Given the description of an element on the screen output the (x, y) to click on. 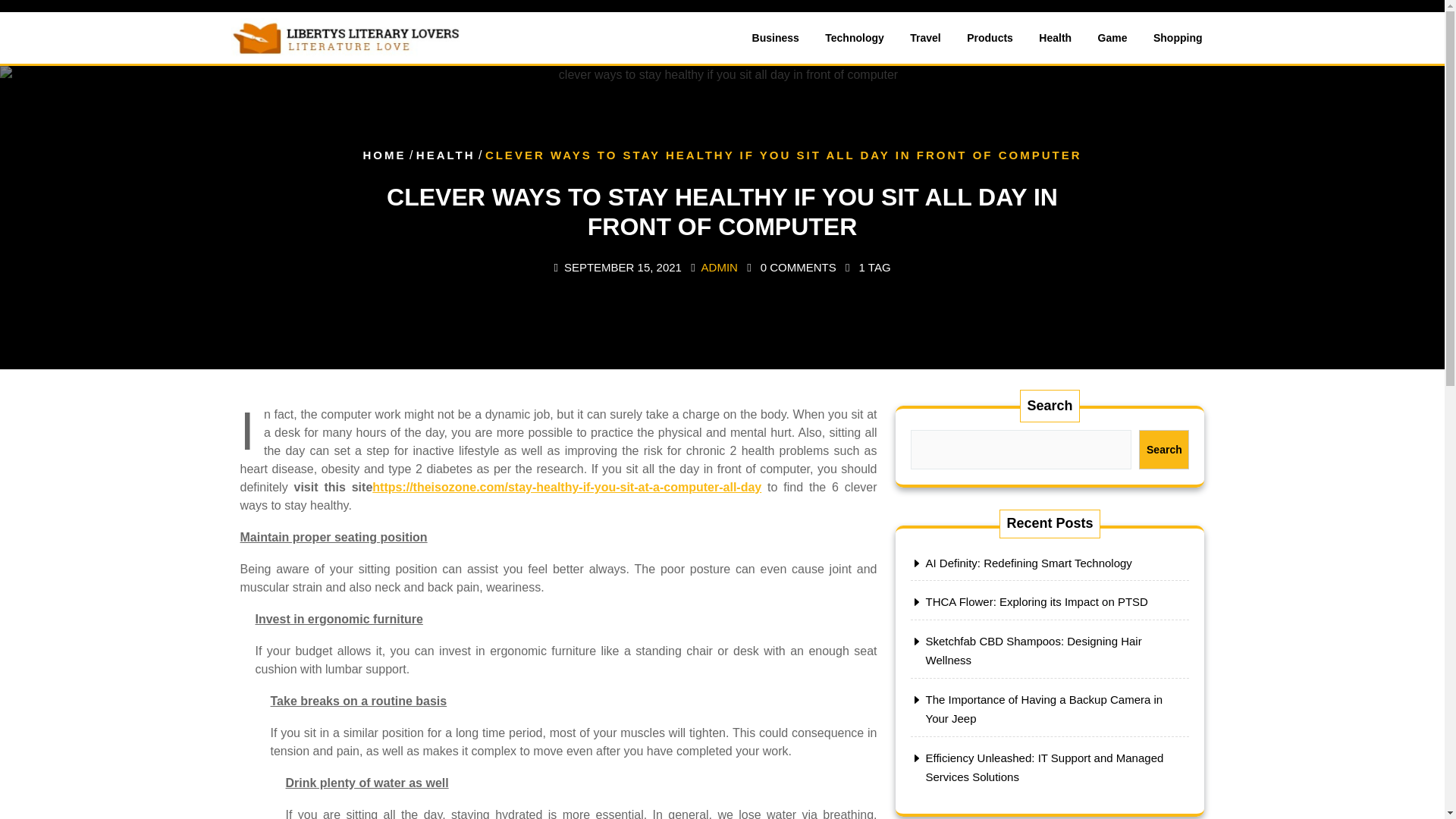
Business (775, 38)
HEALTH (446, 155)
Shopping (1177, 38)
THCA Flower: Exploring its Impact on PTSD (1035, 601)
The Importance of Having a Backup Camera in Your Jeep (1042, 708)
Technology (854, 38)
Game (1112, 38)
ADMIN (719, 267)
HOME (384, 155)
AI Definity: Redefining Smart Technology (1027, 562)
Sketchfab CBD Shampoos: Designing Hair Wellness (1032, 650)
Search (1163, 449)
Products (990, 38)
Travel (925, 38)
